Given the description of an element on the screen output the (x, y) to click on. 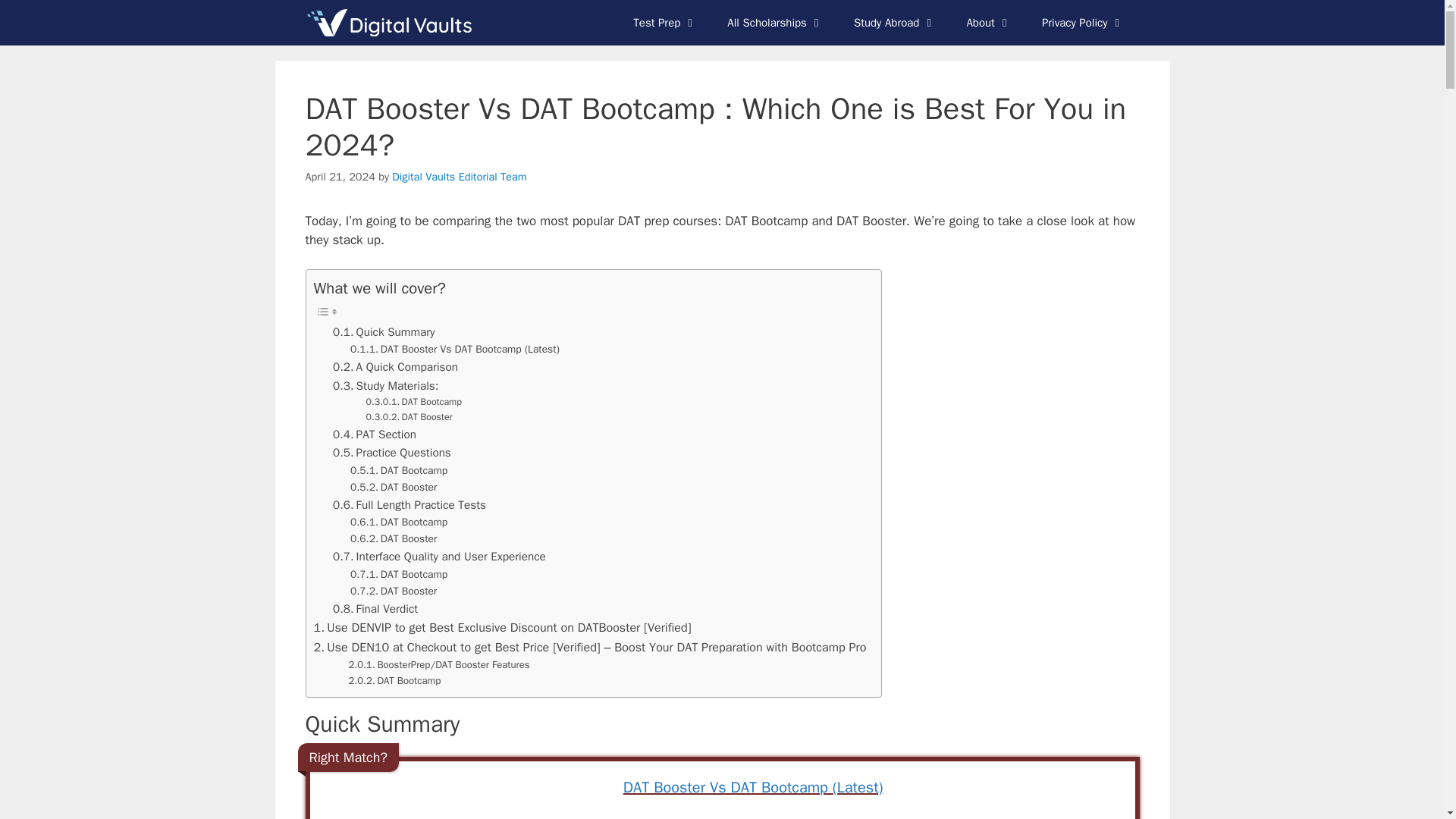
DAT Booster (409, 417)
Quick Summary (383, 331)
Digital Vaults (388, 22)
DAT Bootcamp (398, 522)
Digital Vaults (392, 22)
DAT Booster (393, 487)
View all posts by Digital Vaults Editorial Team (458, 176)
DAT Bootcamp (413, 402)
Practice Questions (392, 452)
Study Materials: (385, 385)
